Given the description of an element on the screen output the (x, y) to click on. 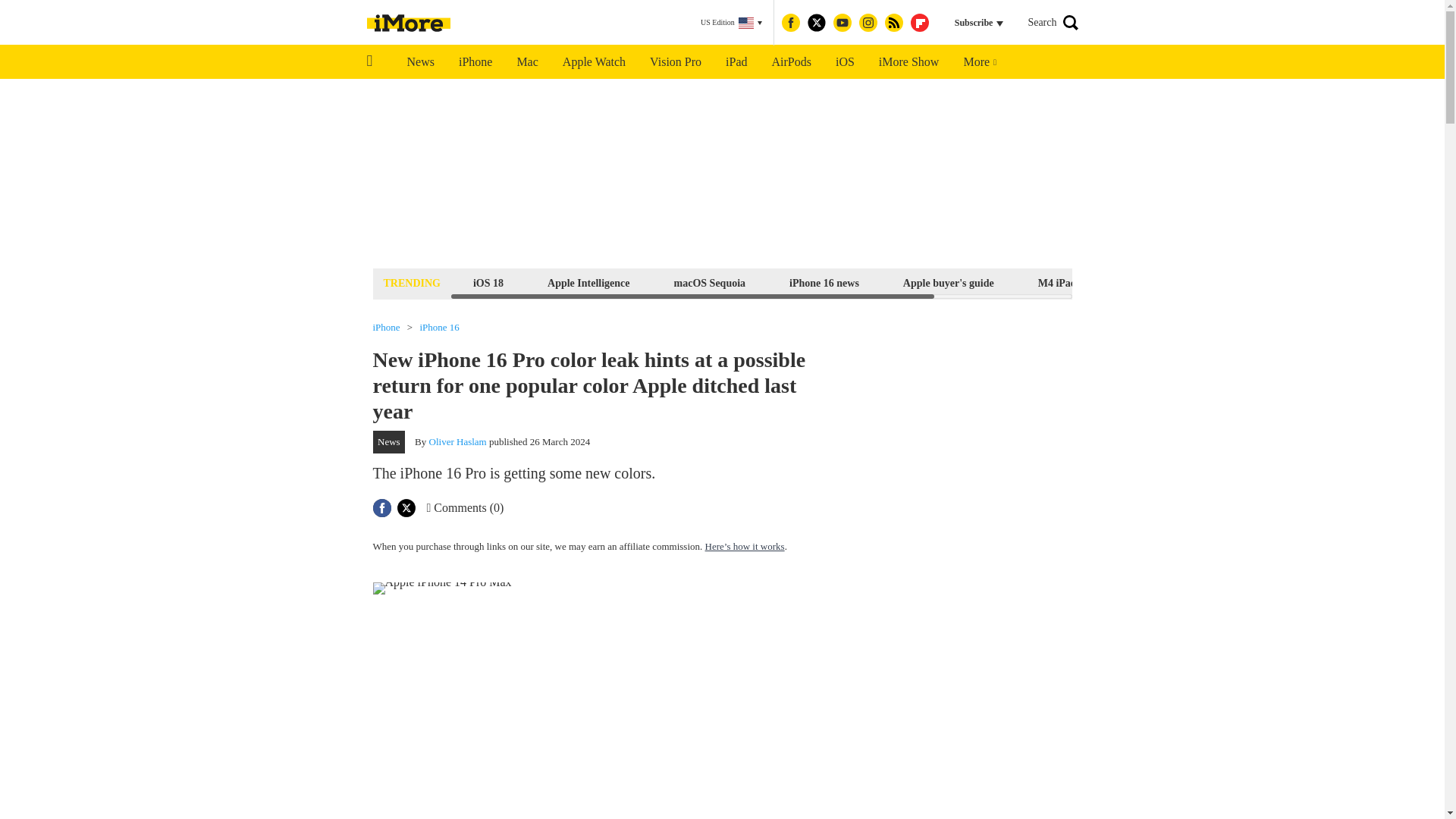
Vision Pro (675, 61)
AirPods (792, 61)
Apple Watch (593, 61)
iPad (735, 61)
iPhone (474, 61)
Mac (526, 61)
iOS (845, 61)
US Edition (731, 22)
iMore Show (909, 61)
News (419, 61)
